Given the description of an element on the screen output the (x, y) to click on. 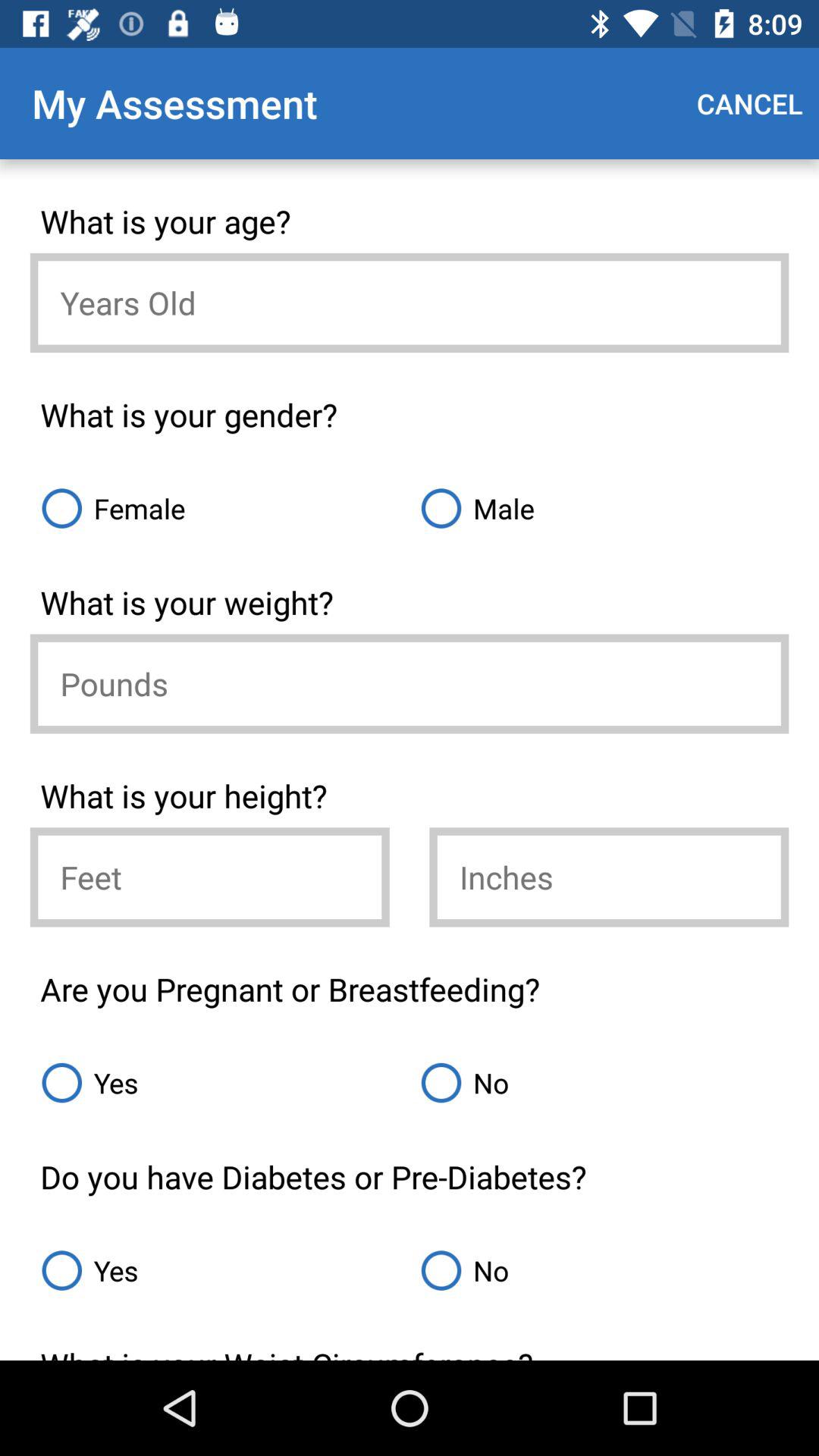
insert your weight (409, 683)
